Given the description of an element on the screen output the (x, y) to click on. 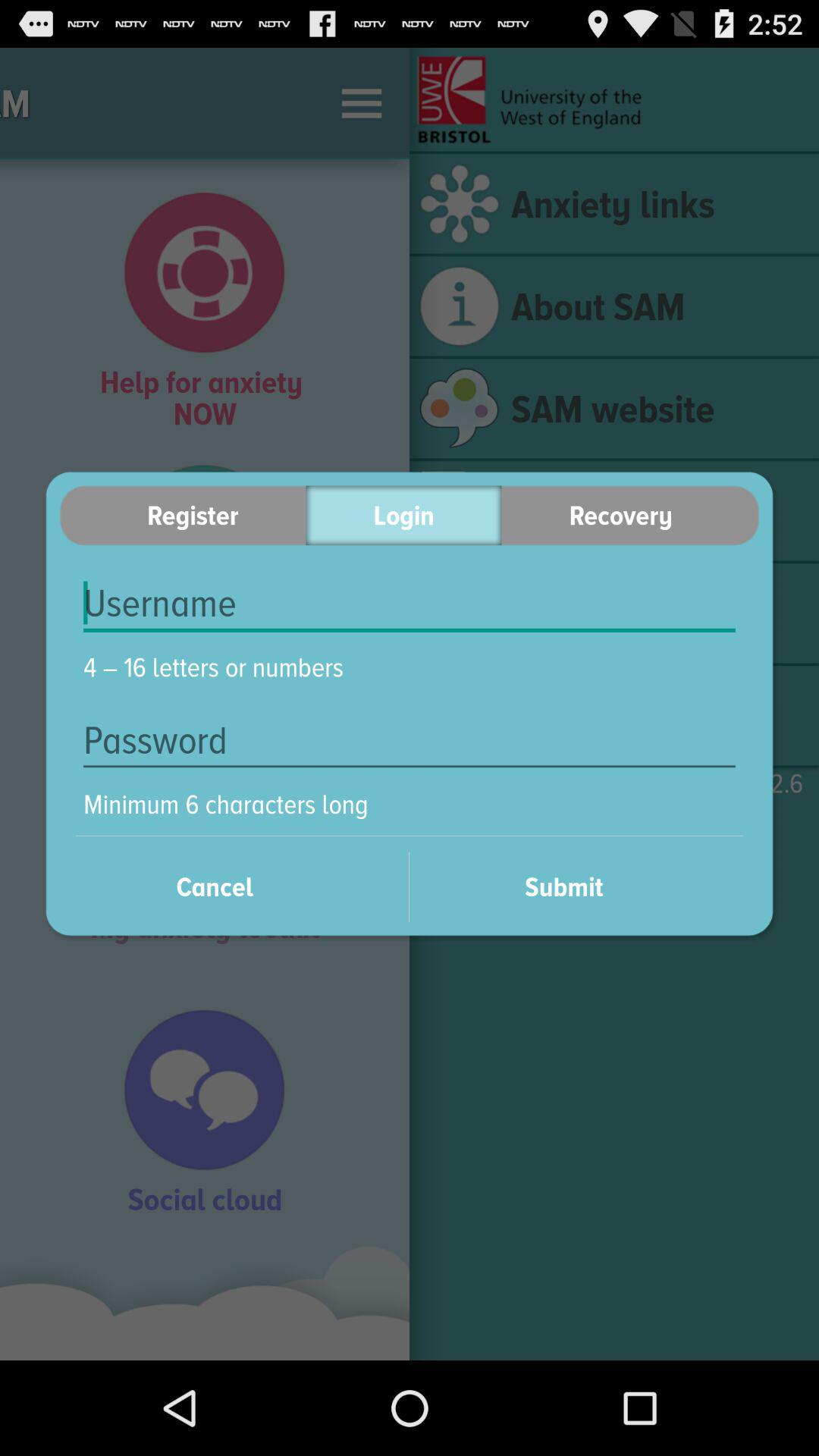
coloque sua senha (409, 740)
